Given the description of an element on the screen output the (x, y) to click on. 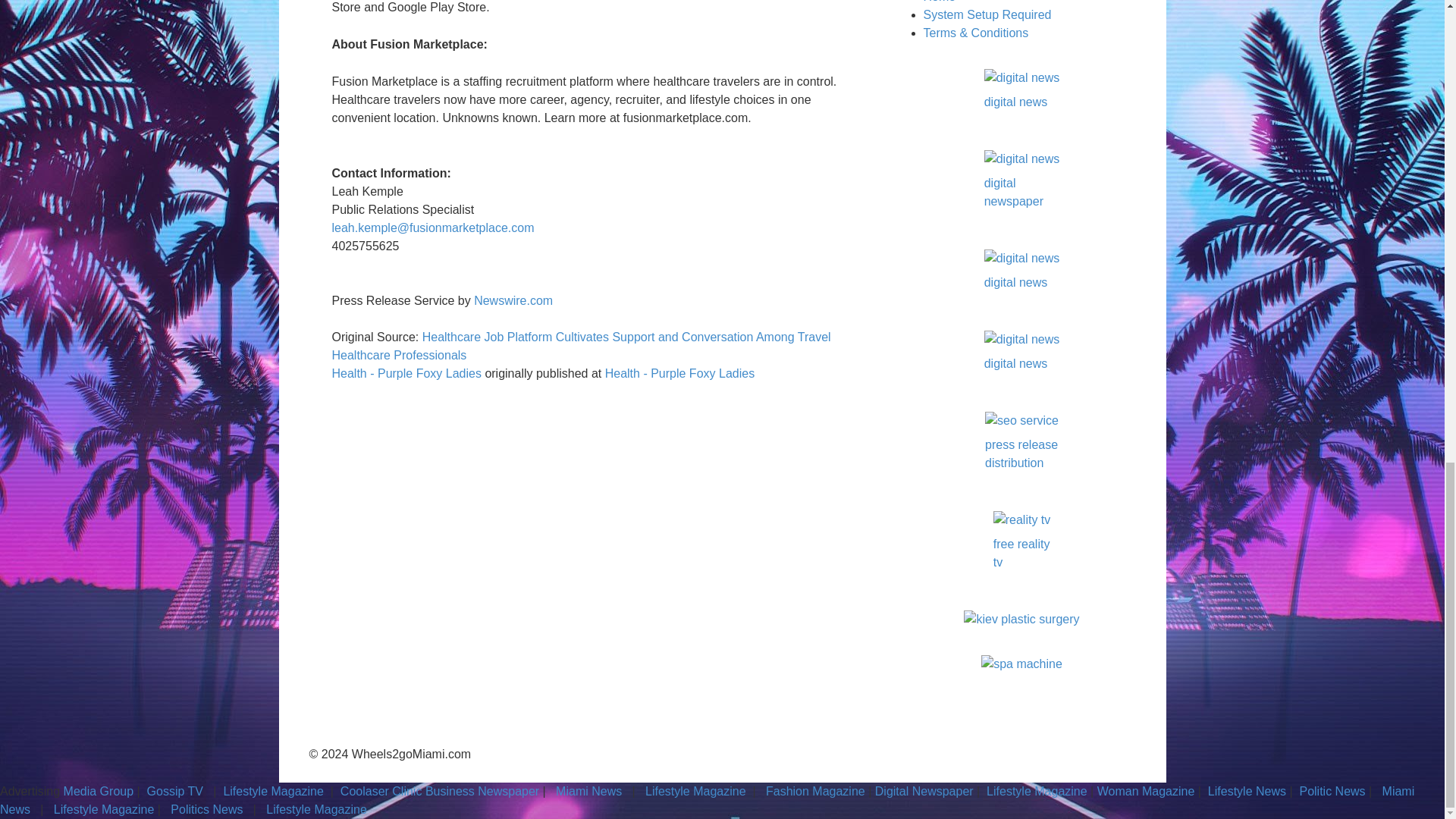
Health - Purple Foxy Ladies (679, 373)
Newswire.com (513, 300)
Health - Purple Foxy Ladies (406, 373)
